Given the description of an element on the screen output the (x, y) to click on. 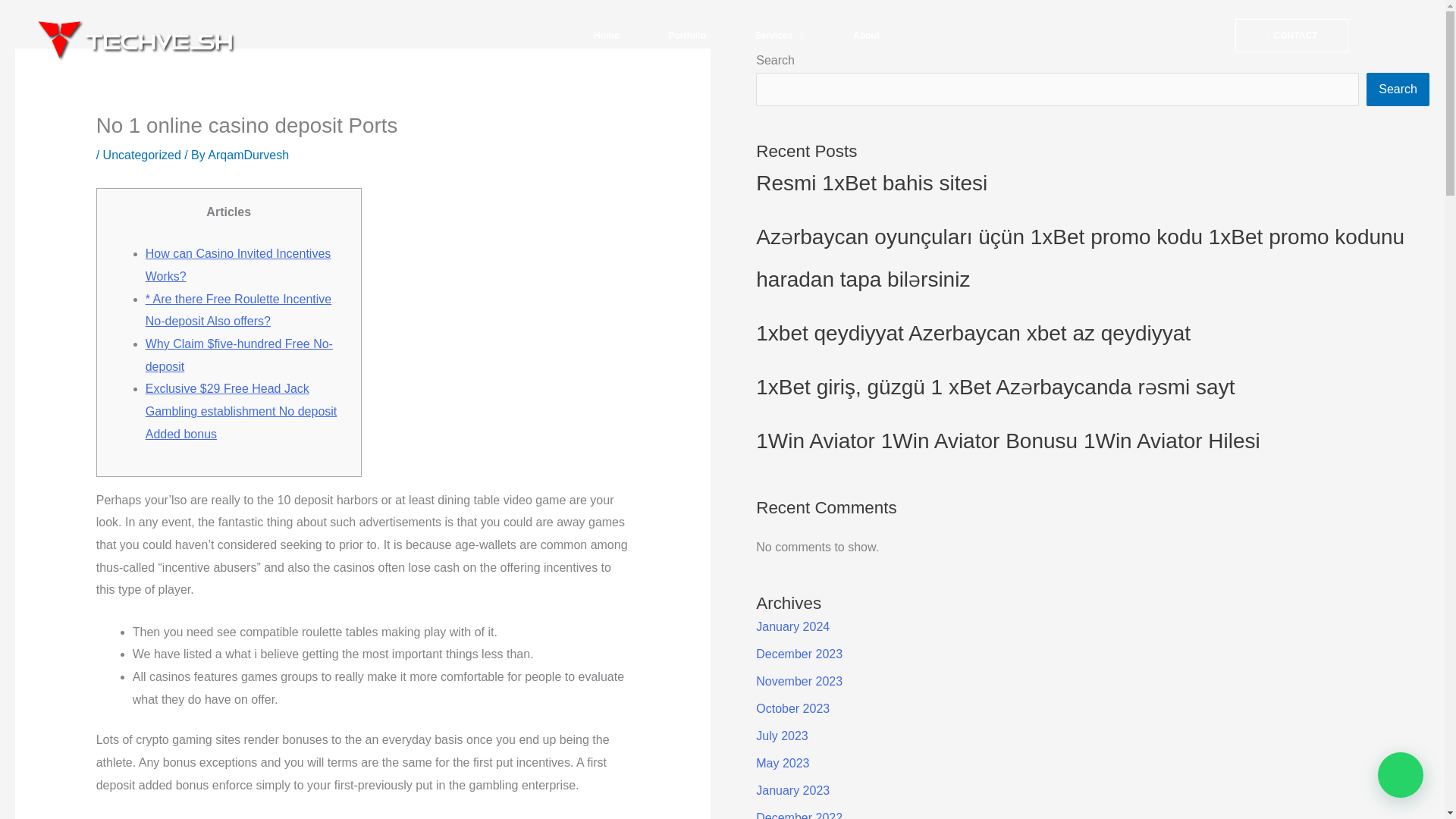
1Win Aviator 1Win Aviator Bonusu 1Win Aviator Hilesi (1007, 440)
Portfolio (686, 35)
January 2024 (792, 626)
December 2023 (799, 653)
View all posts by ArqamDurvesh (248, 154)
July 2023 (781, 735)
October 2023 (792, 707)
Services (779, 35)
1xbet qeydiyyat Azerbaycan xbet az qeydiyyat (973, 332)
CONTACT (1291, 35)
